Given the description of an element on the screen output the (x, y) to click on. 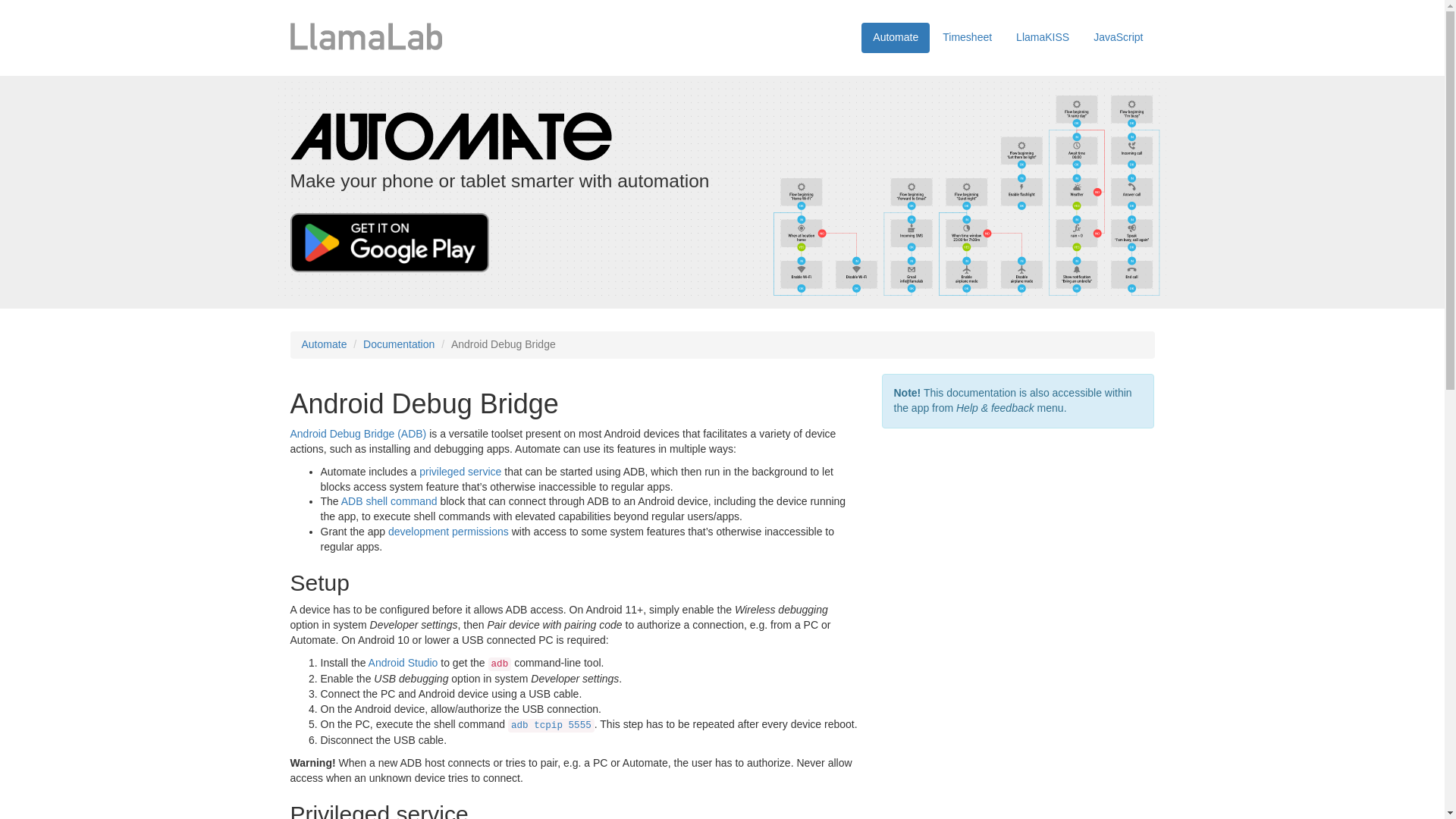
LlamaKISS (1042, 37)
Documentation (397, 344)
Android Studio (403, 662)
JavaScript (1117, 37)
Automate (895, 37)
Automate (324, 344)
ADB shell command (389, 500)
adb tcpip 5555 (551, 725)
development permissions (448, 531)
privileged service (459, 471)
